Given the description of an element on the screen output the (x, y) to click on. 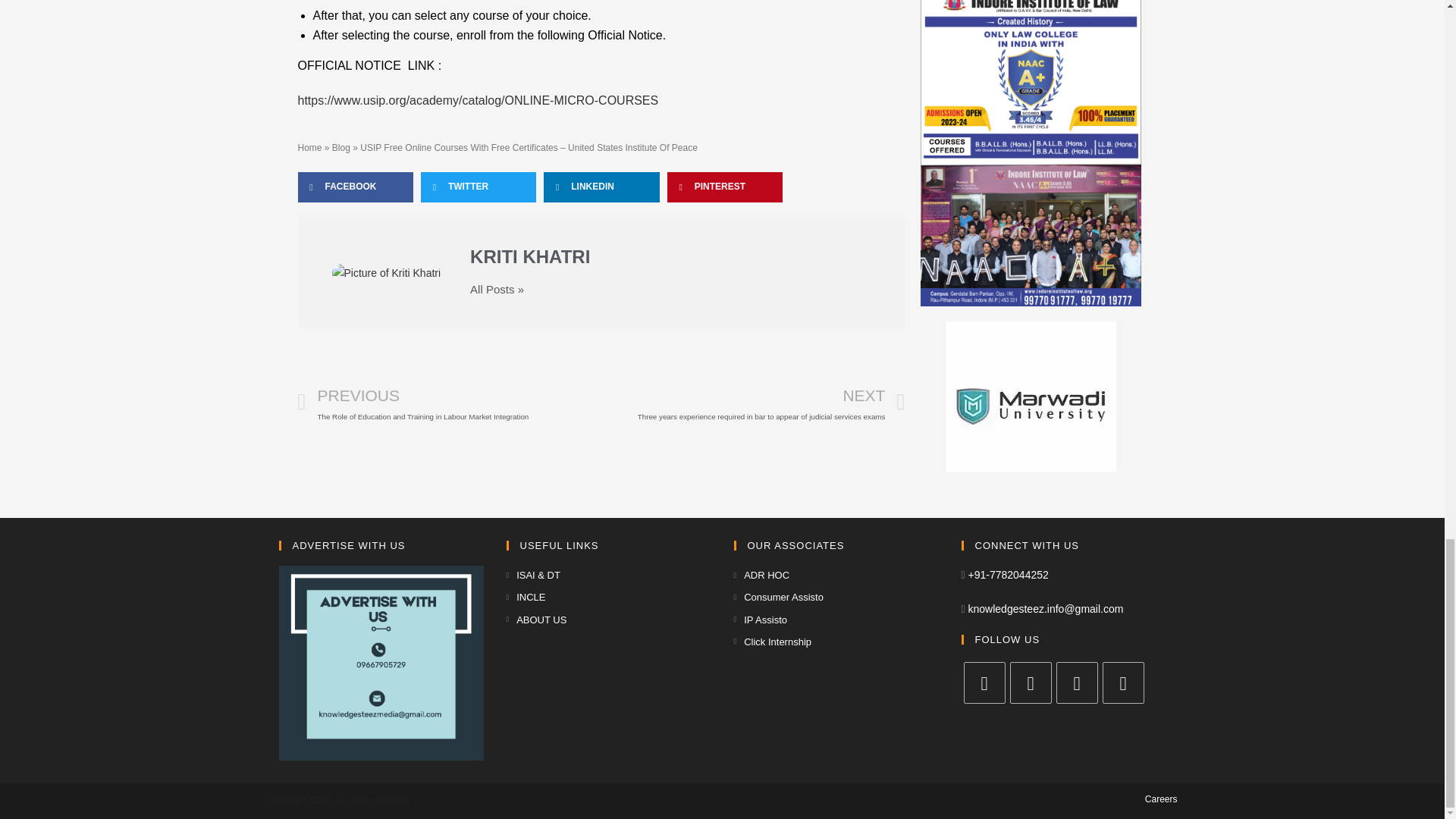
Blog (340, 147)
KRITI KHATRI (670, 257)
Home (309, 147)
